Given the description of an element on the screen output the (x, y) to click on. 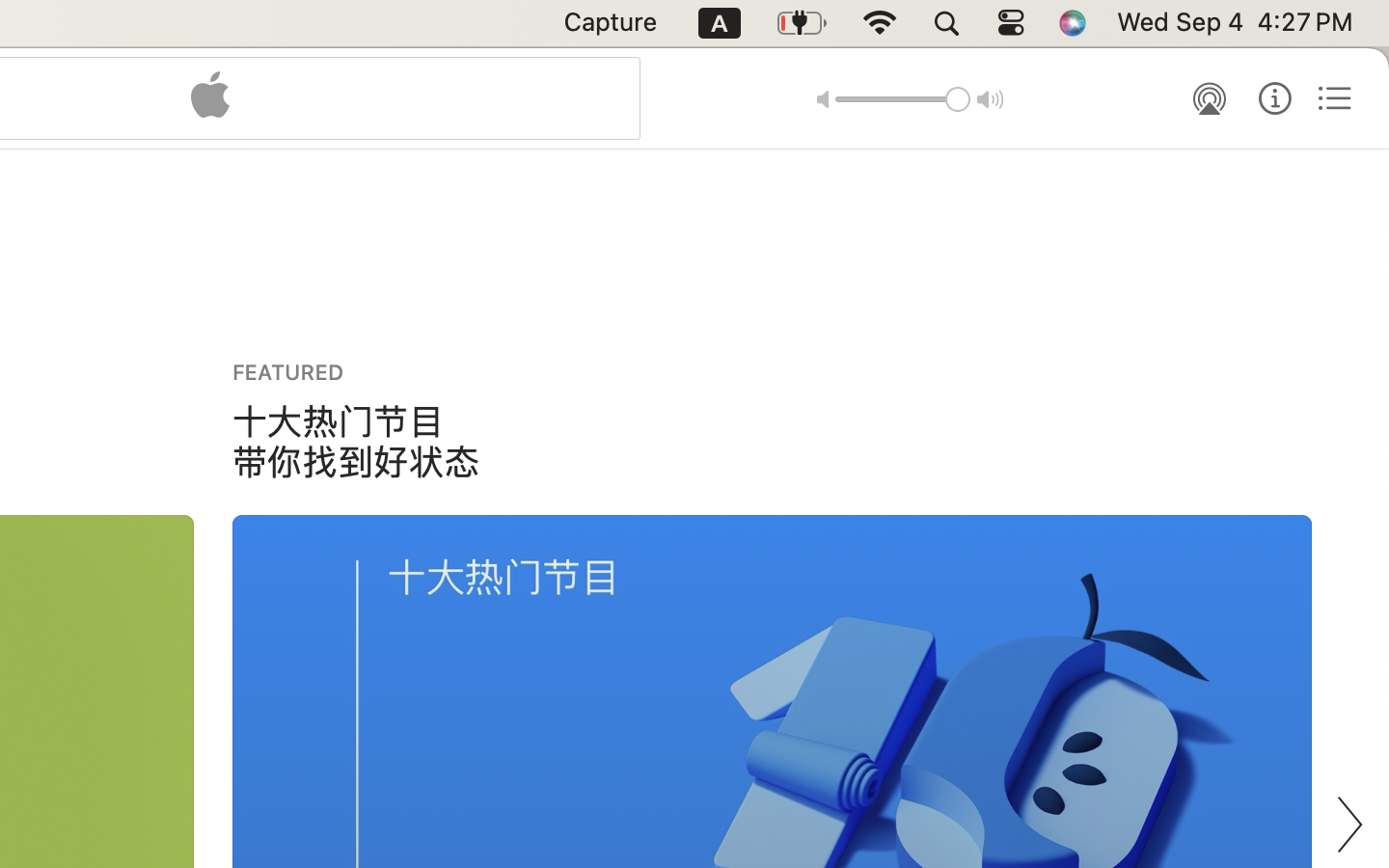
1.0 Element type: AXSlider (902, 98)
